Given the description of an element on the screen output the (x, y) to click on. 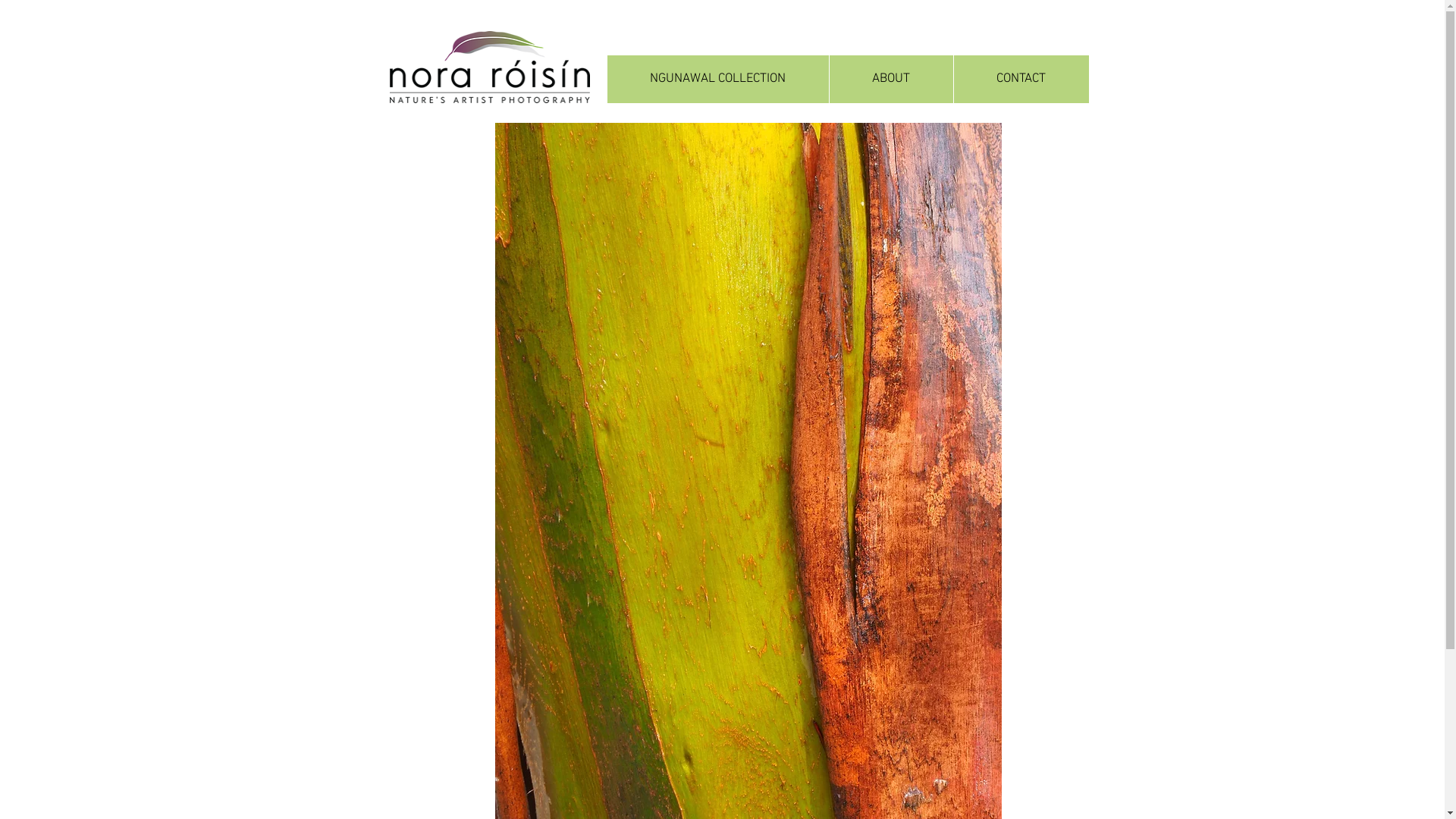
NGUNAWAL COLLECTION Element type: text (717, 79)
ABOUT Element type: text (890, 79)
CONTACT Element type: text (1020, 79)
